Given the description of an element on the screen output the (x, y) to click on. 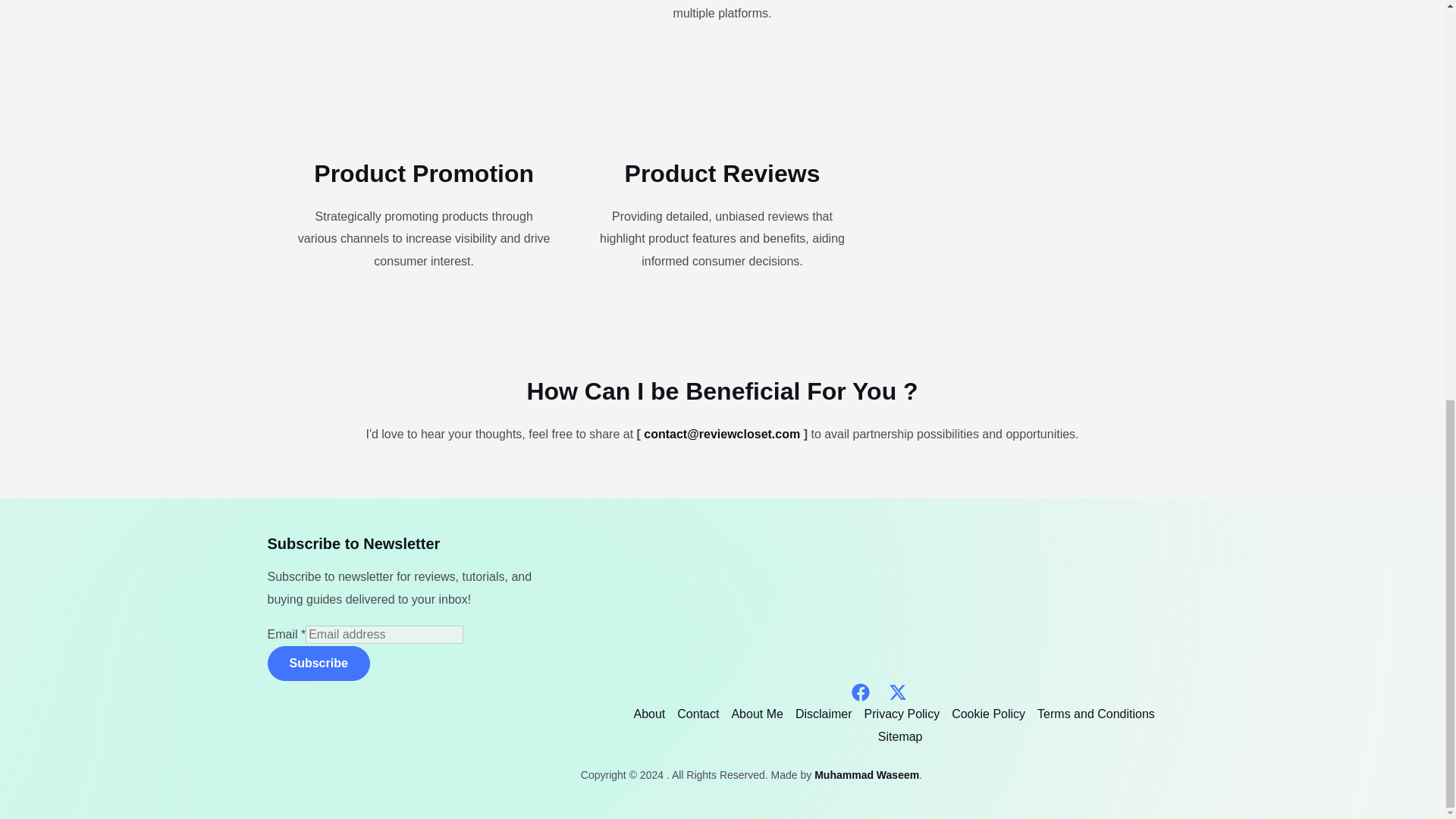
Cookie Policy (987, 713)
Terms and Conditions (1095, 713)
Privacy Policy (902, 713)
About (652, 713)
Contact (698, 713)
Sitemap (897, 736)
Muhammad Waseem (865, 775)
Subscribe (317, 663)
Disclaimer (824, 713)
About Me (757, 713)
